Given the description of an element on the screen output the (x, y) to click on. 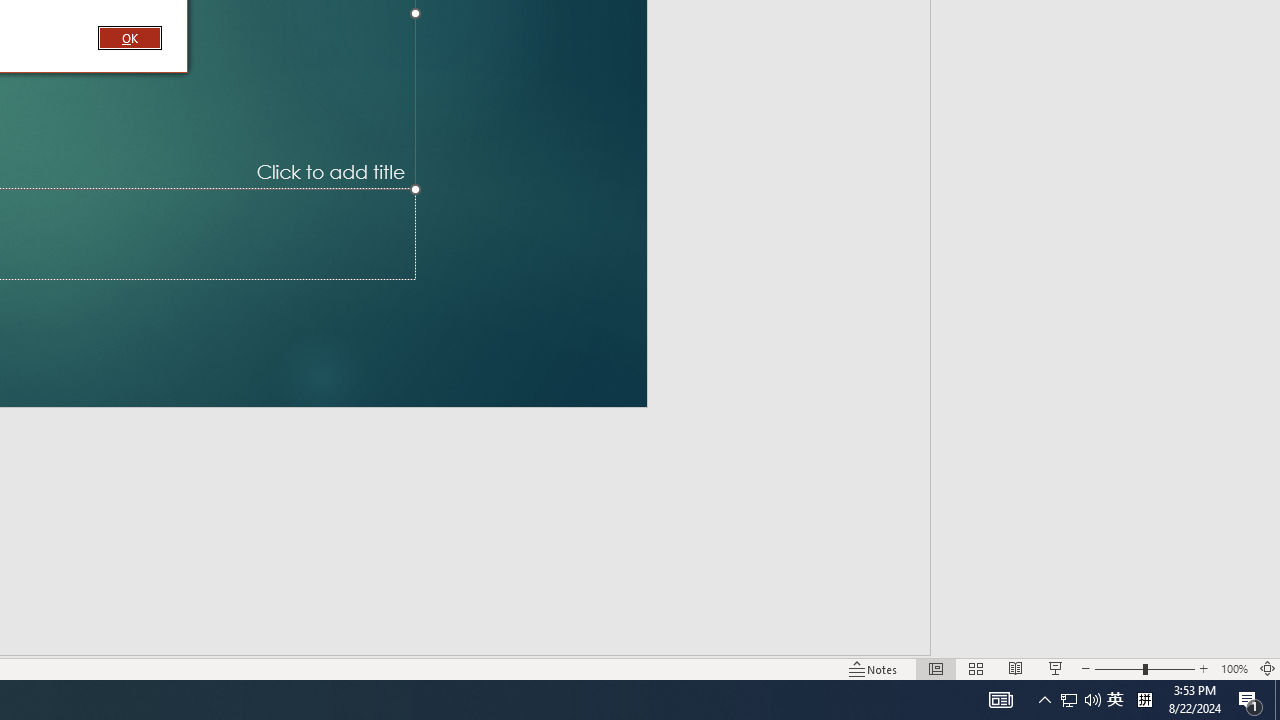
OK (130, 37)
Zoom 100% (1234, 668)
